Given the description of an element on the screen output the (x, y) to click on. 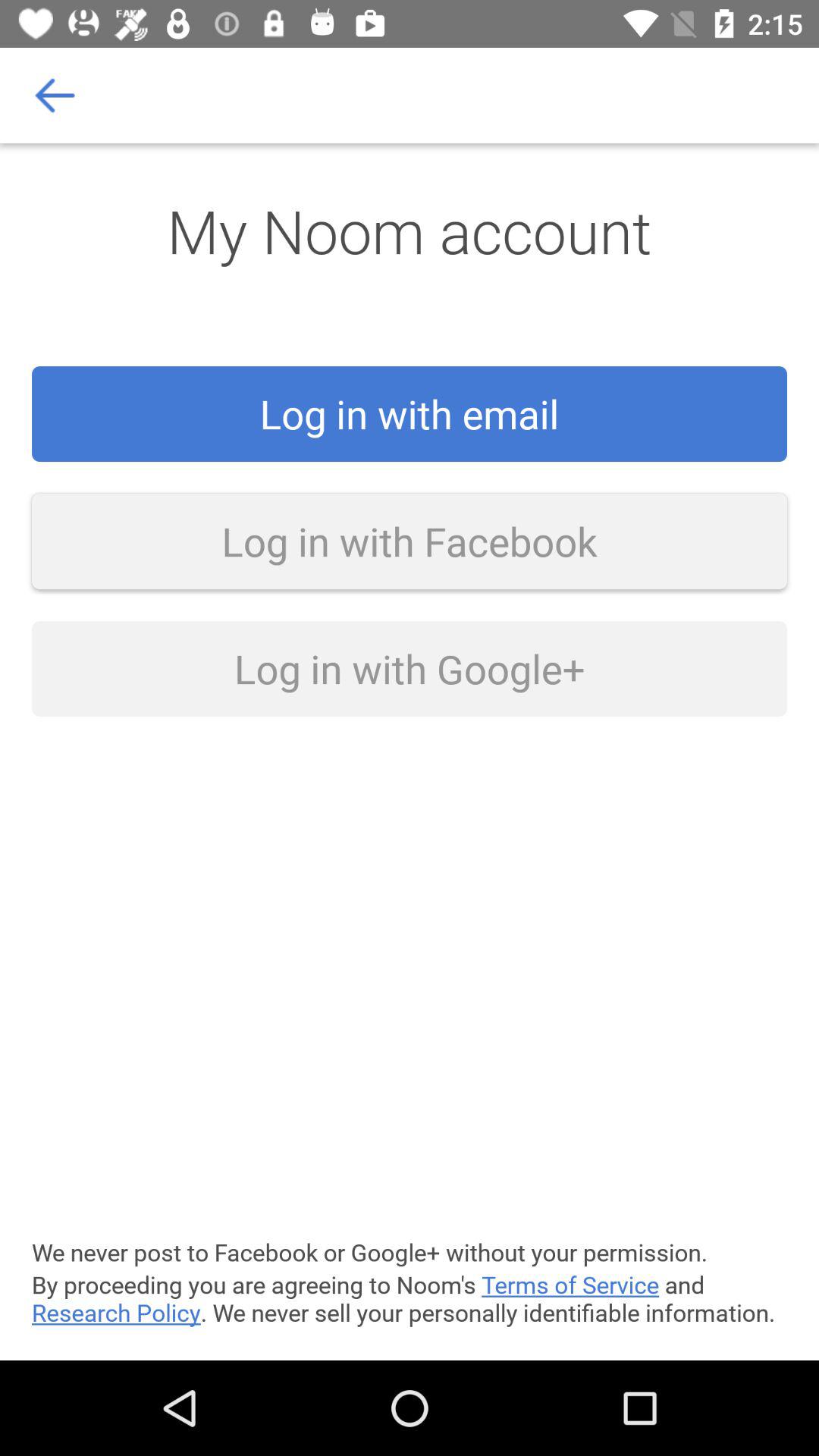
press by proceeding you icon (409, 1298)
